Given the description of an element on the screen output the (x, y) to click on. 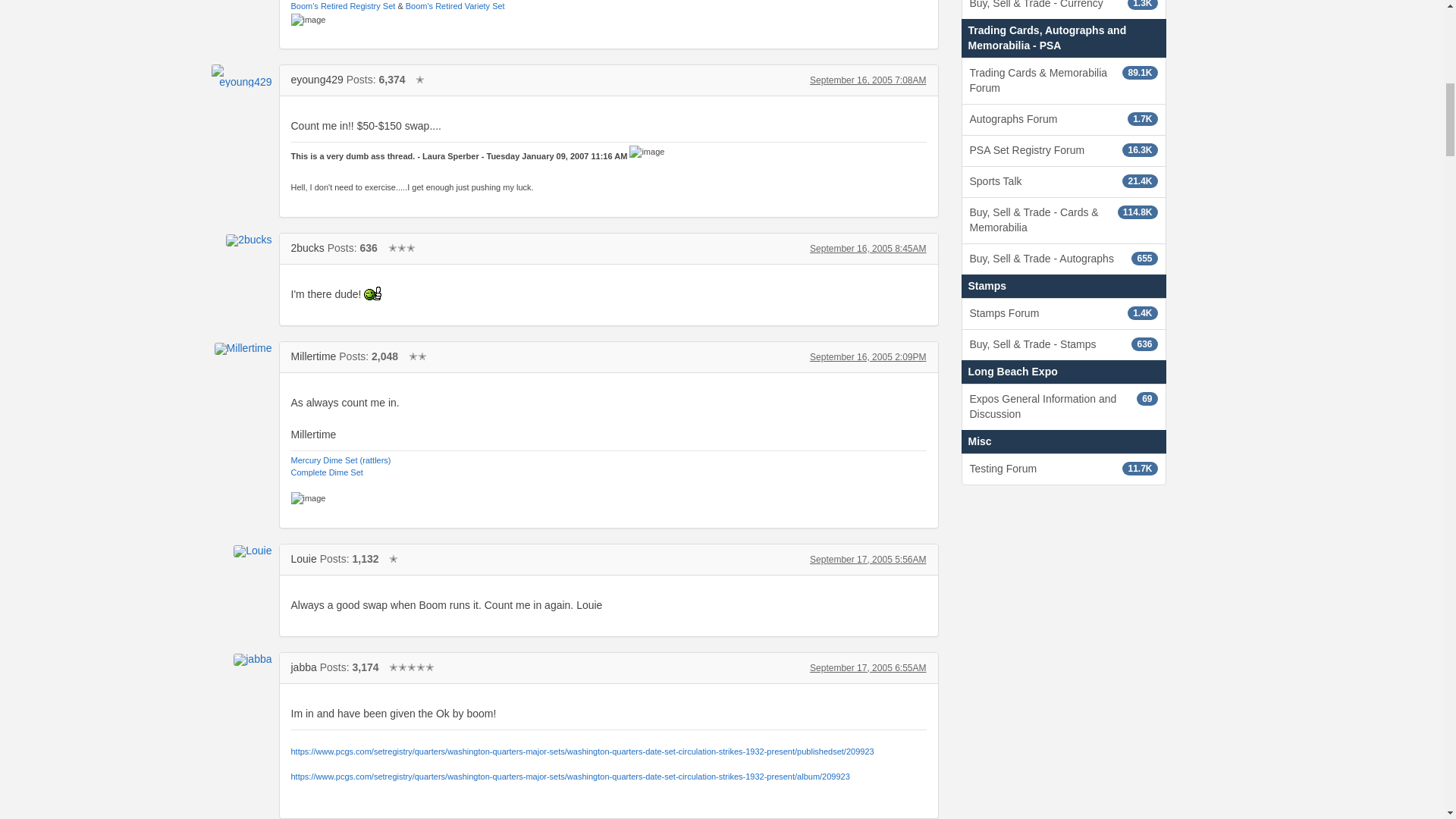
September 16, 2005 7:08AM (867, 80)
2bucks (307, 247)
September 16, 2005 7:08AM (867, 80)
Boom's Retired Variety Set (455, 5)
Louie (240, 550)
September 16, 2005 2:09PM (867, 357)
September 16, 2005 2:09PM (867, 357)
September 16, 2005 8:45AM (867, 248)
eyoung429 (240, 75)
Millertime (313, 356)
